Given the description of an element on the screen output the (x, y) to click on. 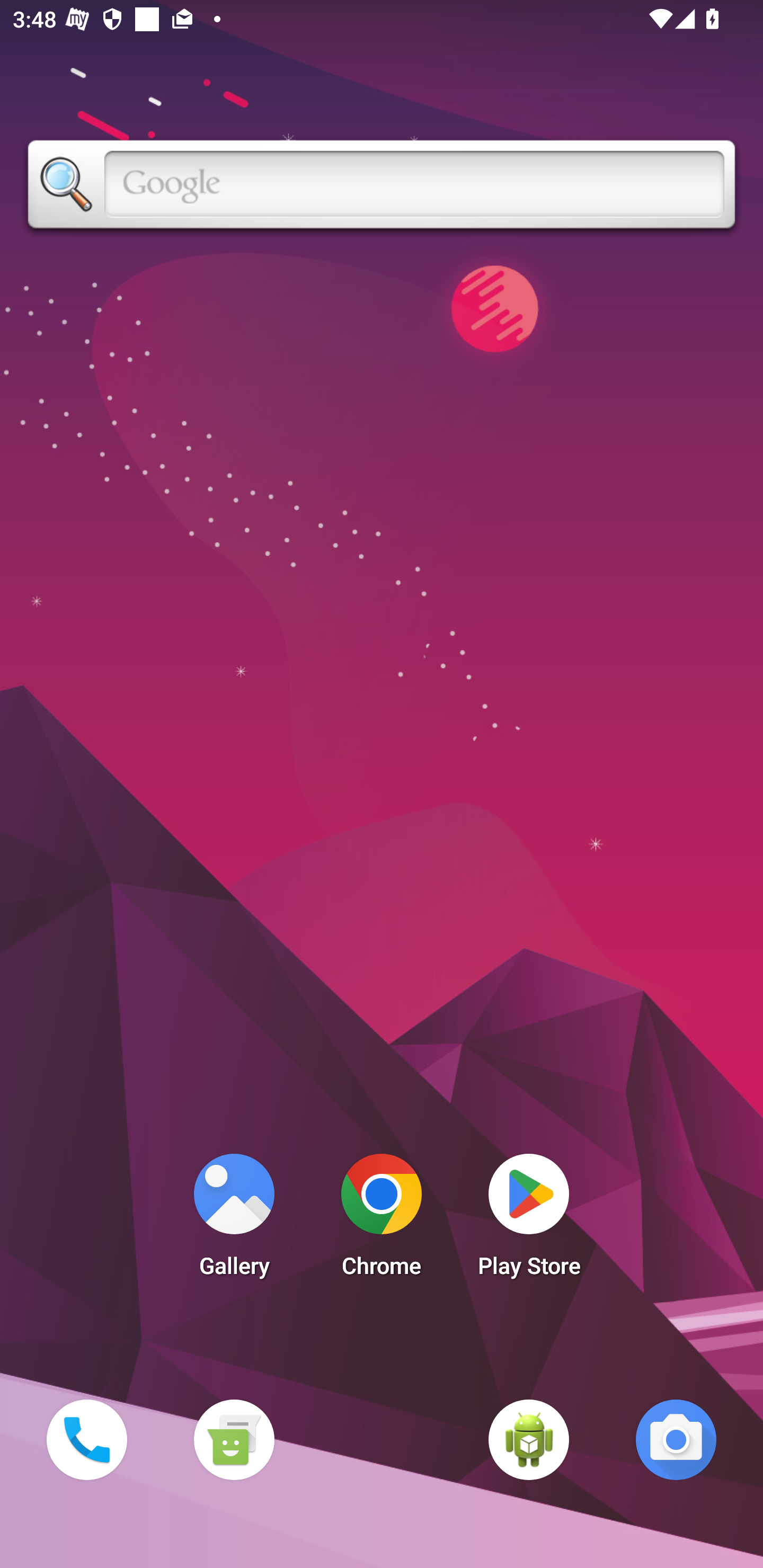
Gallery (233, 1220)
Chrome (381, 1220)
Play Store (528, 1220)
Phone (86, 1439)
Messaging (233, 1439)
WebView Browser Tester (528, 1439)
Camera (676, 1439)
